Given the description of an element on the screen output the (x, y) to click on. 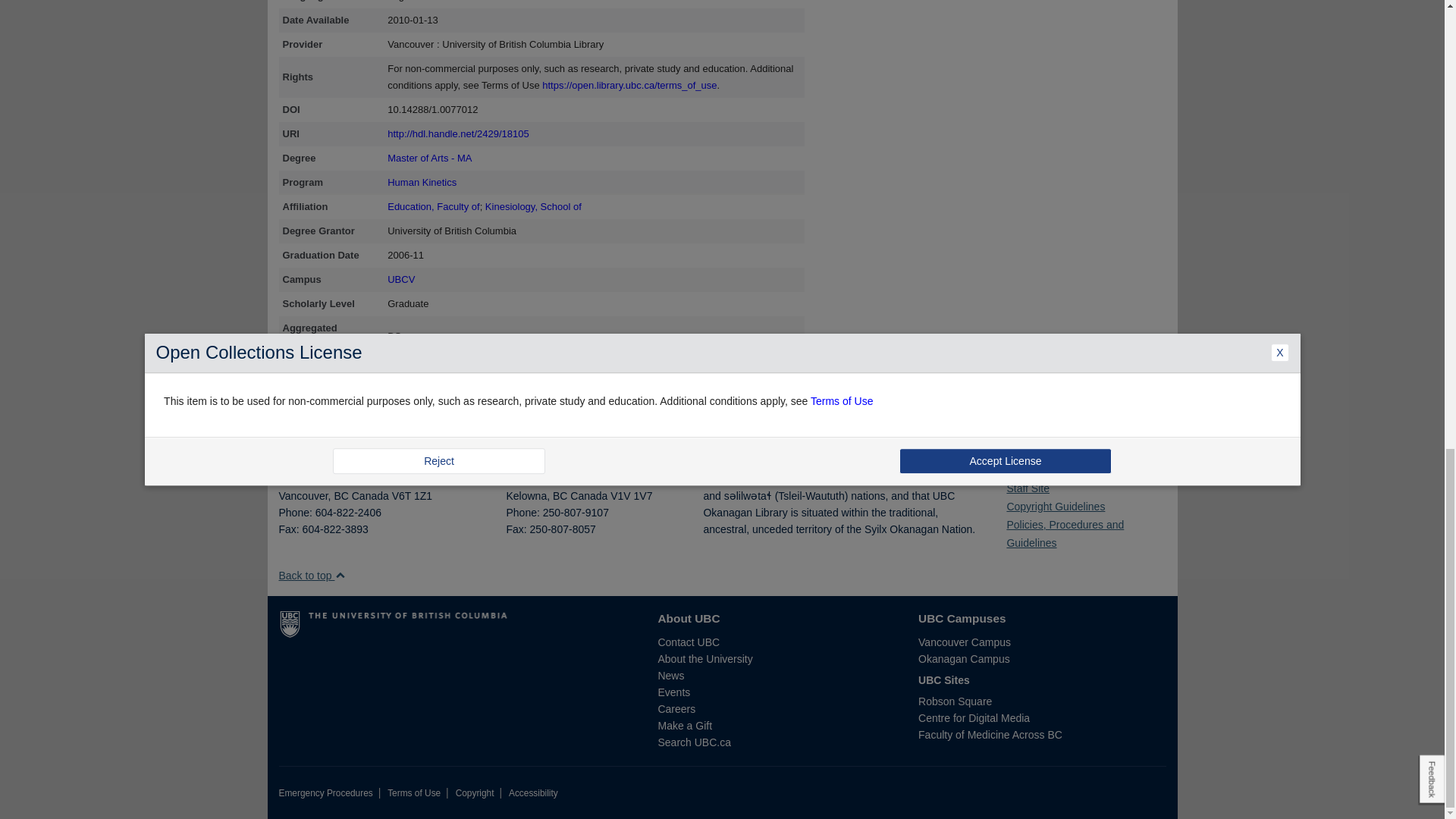
British Columbia (560, 495)
British Columbia (340, 495)
